Given the description of an element on the screen output the (x, y) to click on. 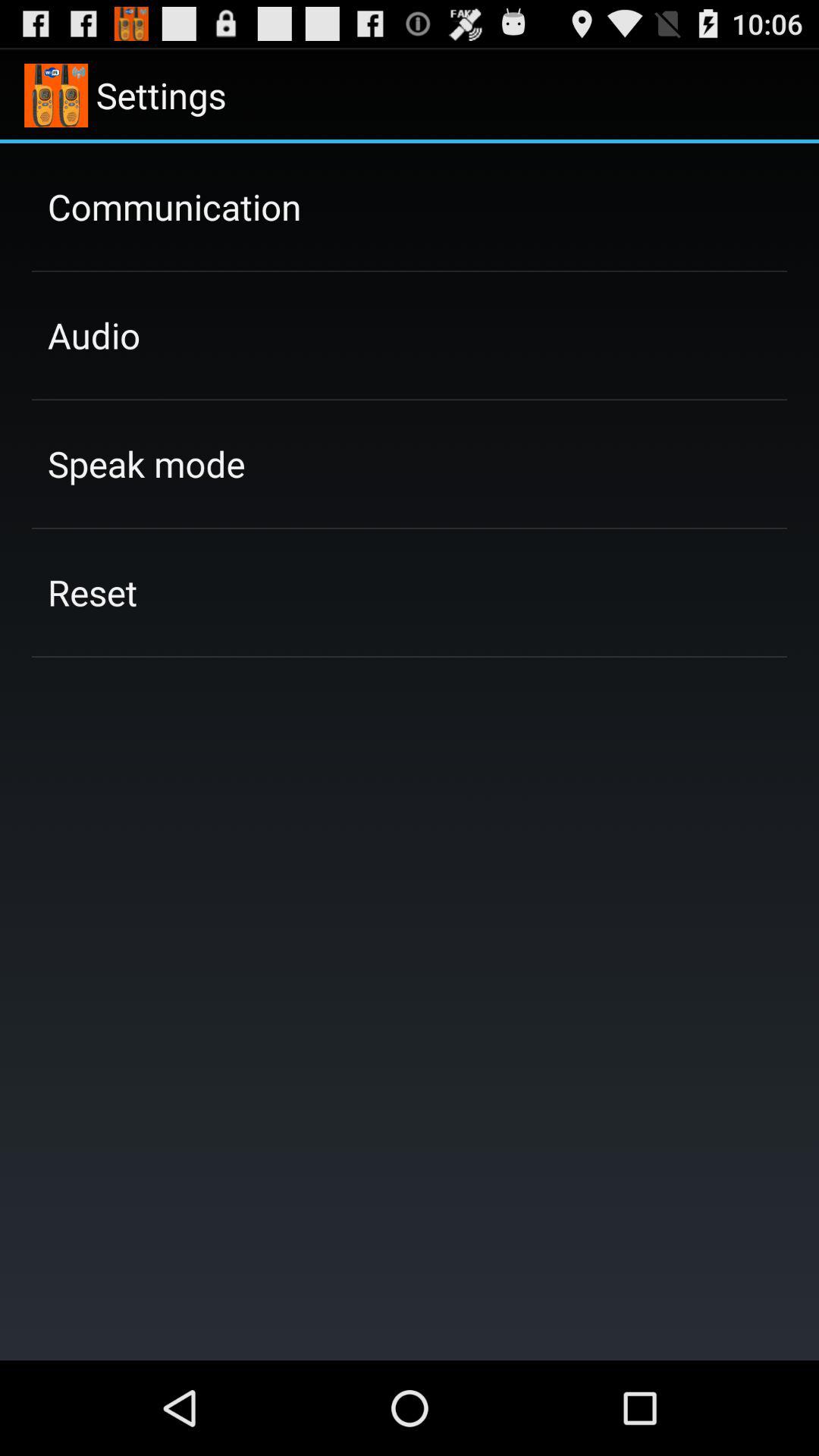
select item below audio app (146, 463)
